Given the description of an element on the screen output the (x, y) to click on. 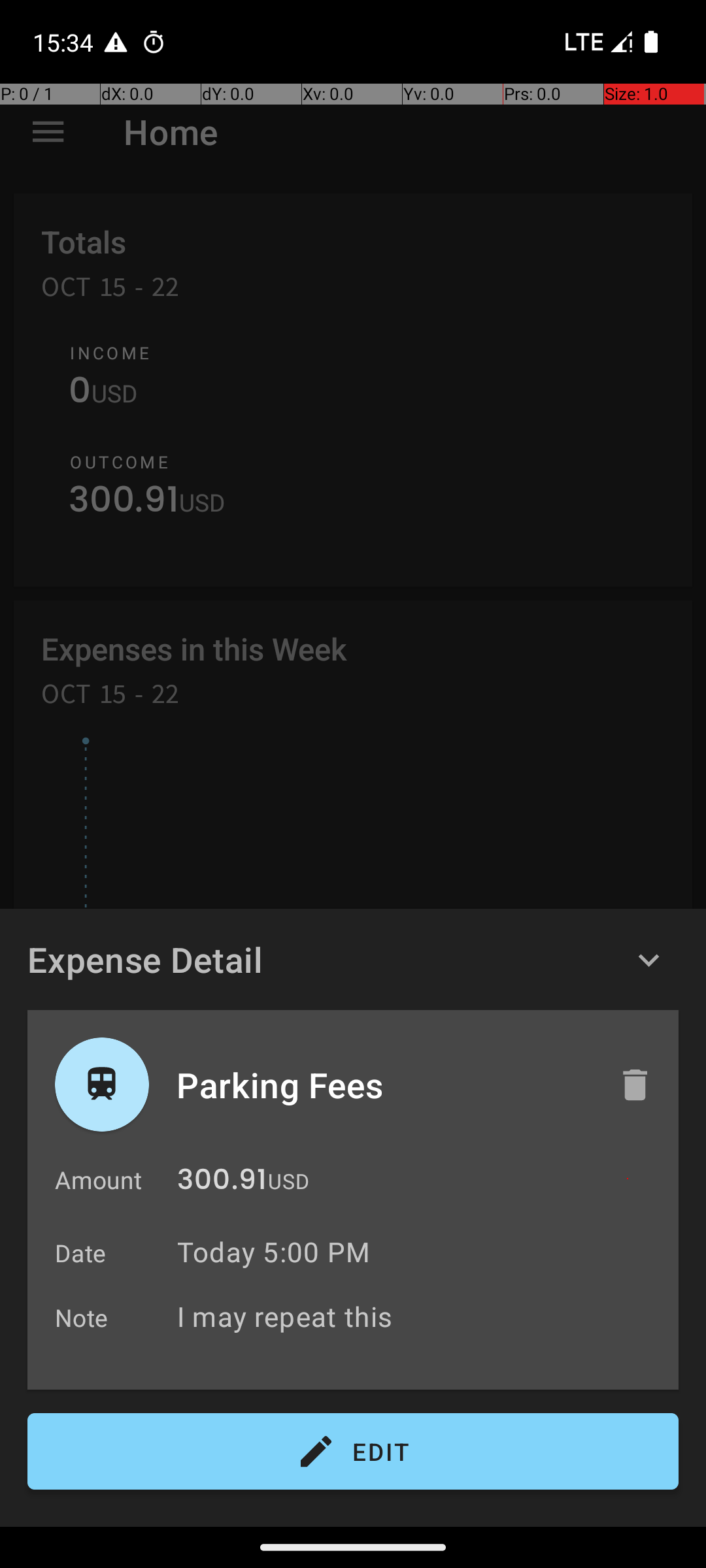
Expense Detail Element type: android.widget.TextView (145, 959)
Parking Fees Element type: android.widget.TextView (383, 1084)
Amount Element type: android.widget.TextView (97, 1179)
300.91 Element type: android.widget.TextView (221, 1182)
USD Element type: android.widget.TextView (288, 1180)
Date Element type: android.widget.TextView (80, 1252)
Today 5:00 PM Element type: android.widget.TextView (273, 1251)
Note Element type: android.widget.TextView (81, 1317)
I may repeat this Element type: android.widget.TextView (420, 1315)
EDIT Element type: android.widget.Button (352, 1451)
